Given the description of an element on the screen output the (x, y) to click on. 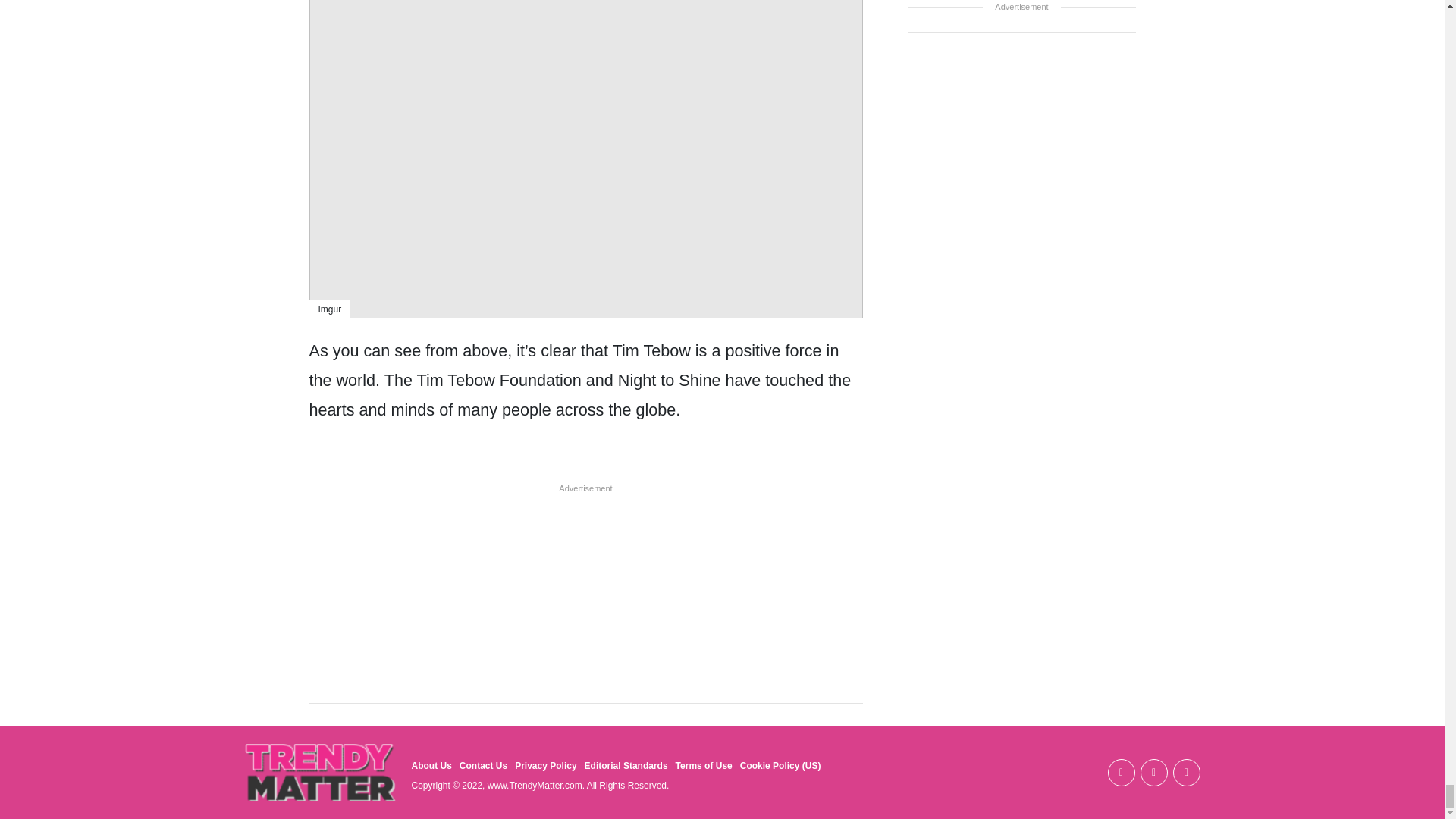
Contact Us (483, 765)
Terms of Use (703, 765)
Editorial Standards (626, 765)
Privacy Policy (545, 765)
About Us (430, 765)
